Given the description of an element on the screen output the (x, y) to click on. 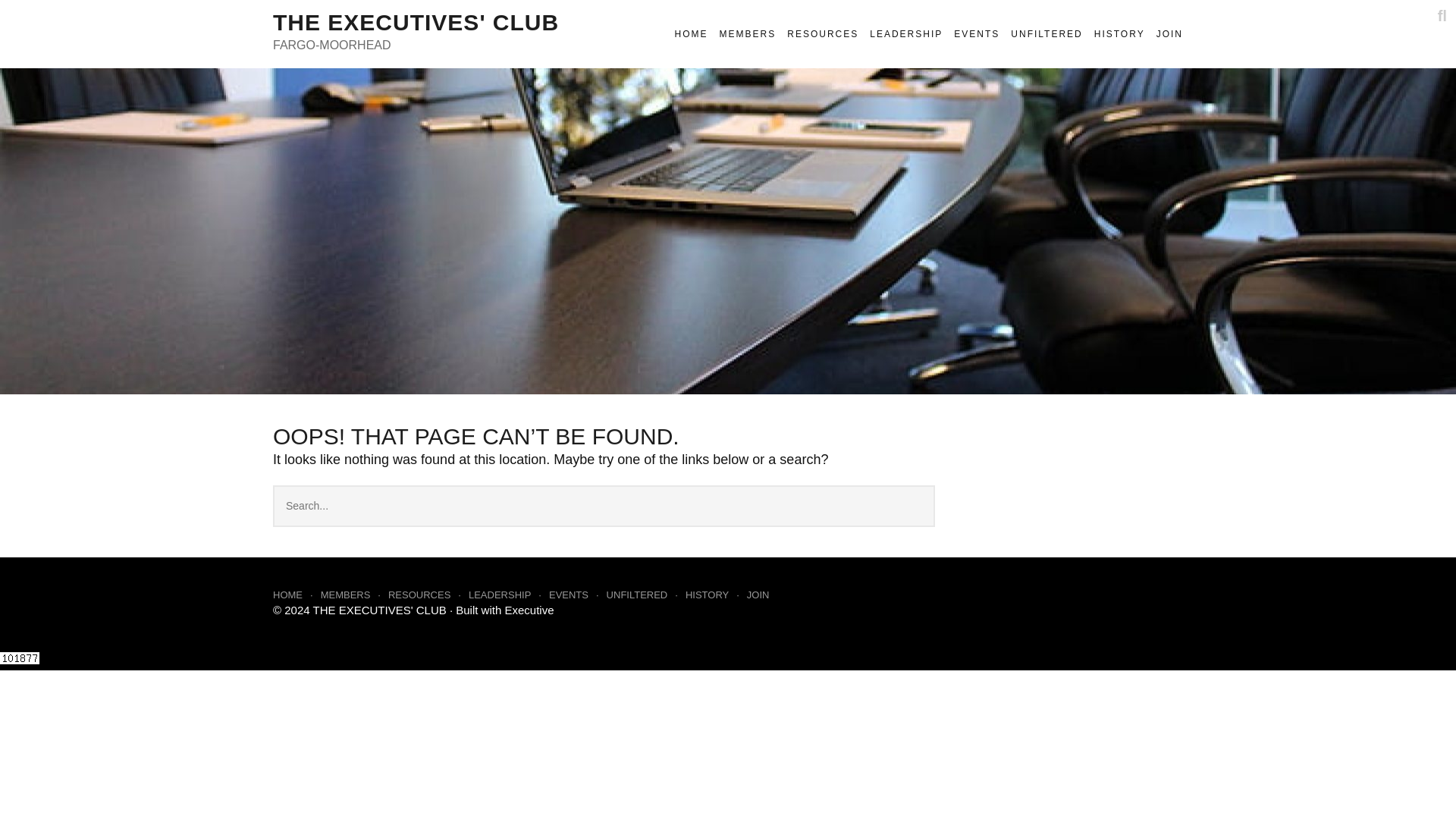
THE EXECUTIVES' CLUB (379, 609)
Search for: (603, 506)
HOME (296, 594)
RESOURCES (428, 594)
HISTORY (1119, 34)
HISTORY (715, 594)
JOIN (765, 594)
RESOURCES (823, 34)
UNFILTERED (646, 594)
THE EXECUTIVES' CLUB (416, 22)
